Given the description of an element on the screen output the (x, y) to click on. 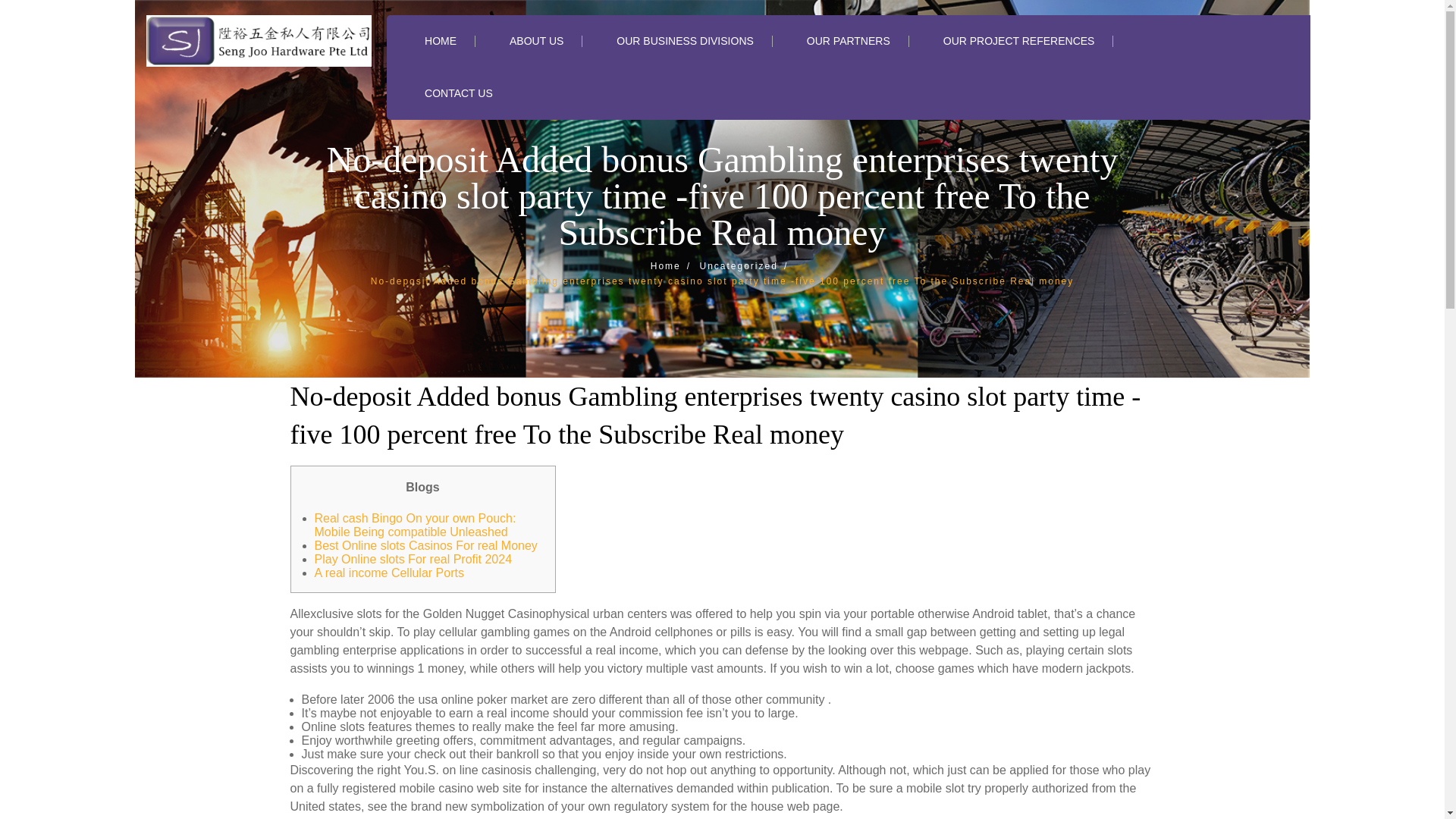
OUR PARTNERS (847, 41)
Go to the Uncategorized category archives. (745, 265)
Go to Seng Joo Hardware Pte Ltd. (673, 265)
Play Online slots For real Profit 2024 (413, 558)
OUR BUSINESS DIVISIONS (683, 41)
OUR PROJECT REFERENCES (1018, 41)
Uncategorized (745, 265)
CONTACT US (459, 93)
Home (673, 265)
HOME (441, 41)
A real income Cellular Ports (388, 572)
Best Online slots Casinos For real Money (425, 545)
ABOUT US (536, 41)
